Given the description of an element on the screen output the (x, y) to click on. 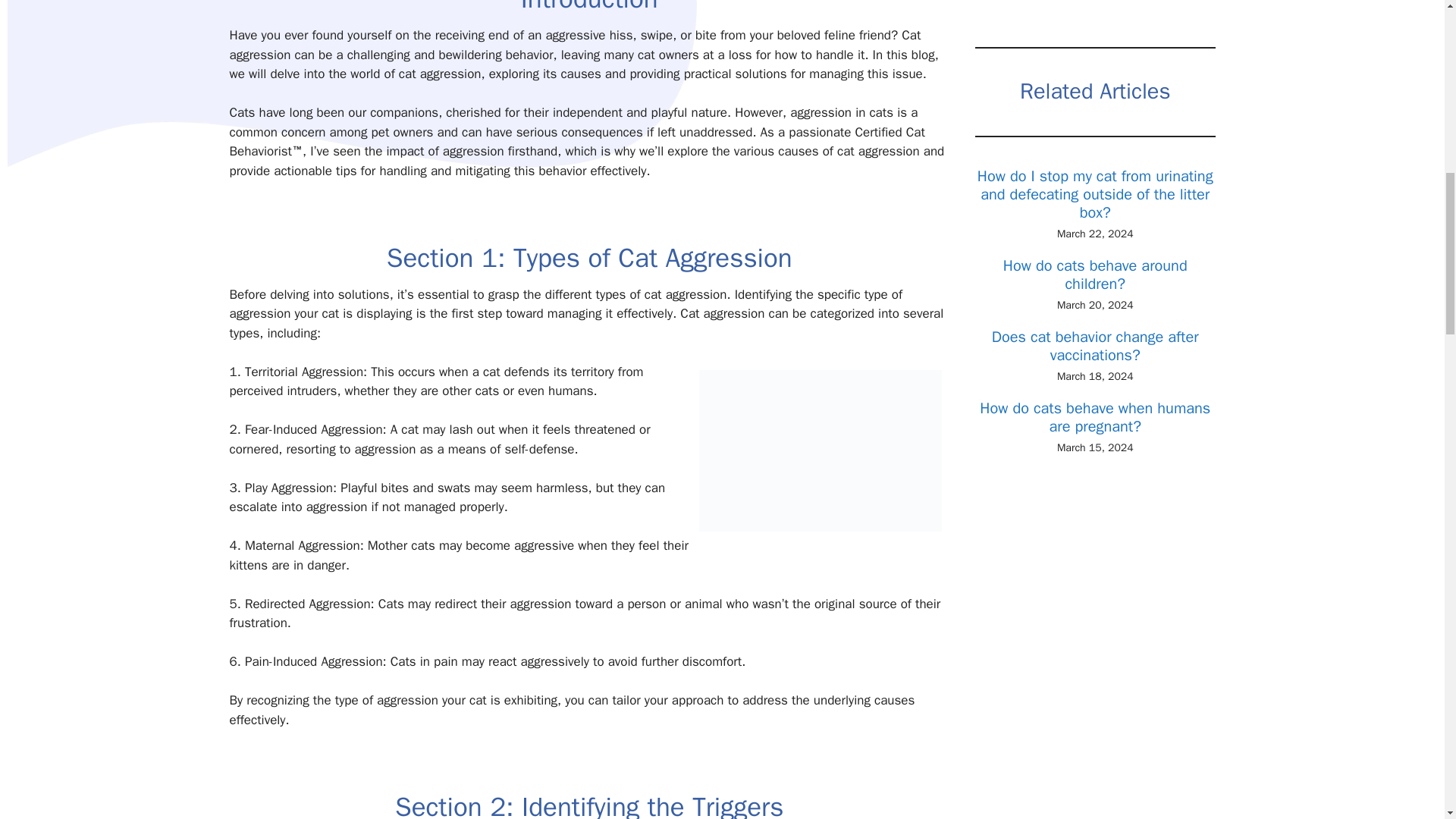
Does cat behavior change after vaccinations? (1094, 345)
How do cats behave when humans are pregnant? (1094, 416)
How do cats behave around children? (1095, 274)
